Given the description of an element on the screen output the (x, y) to click on. 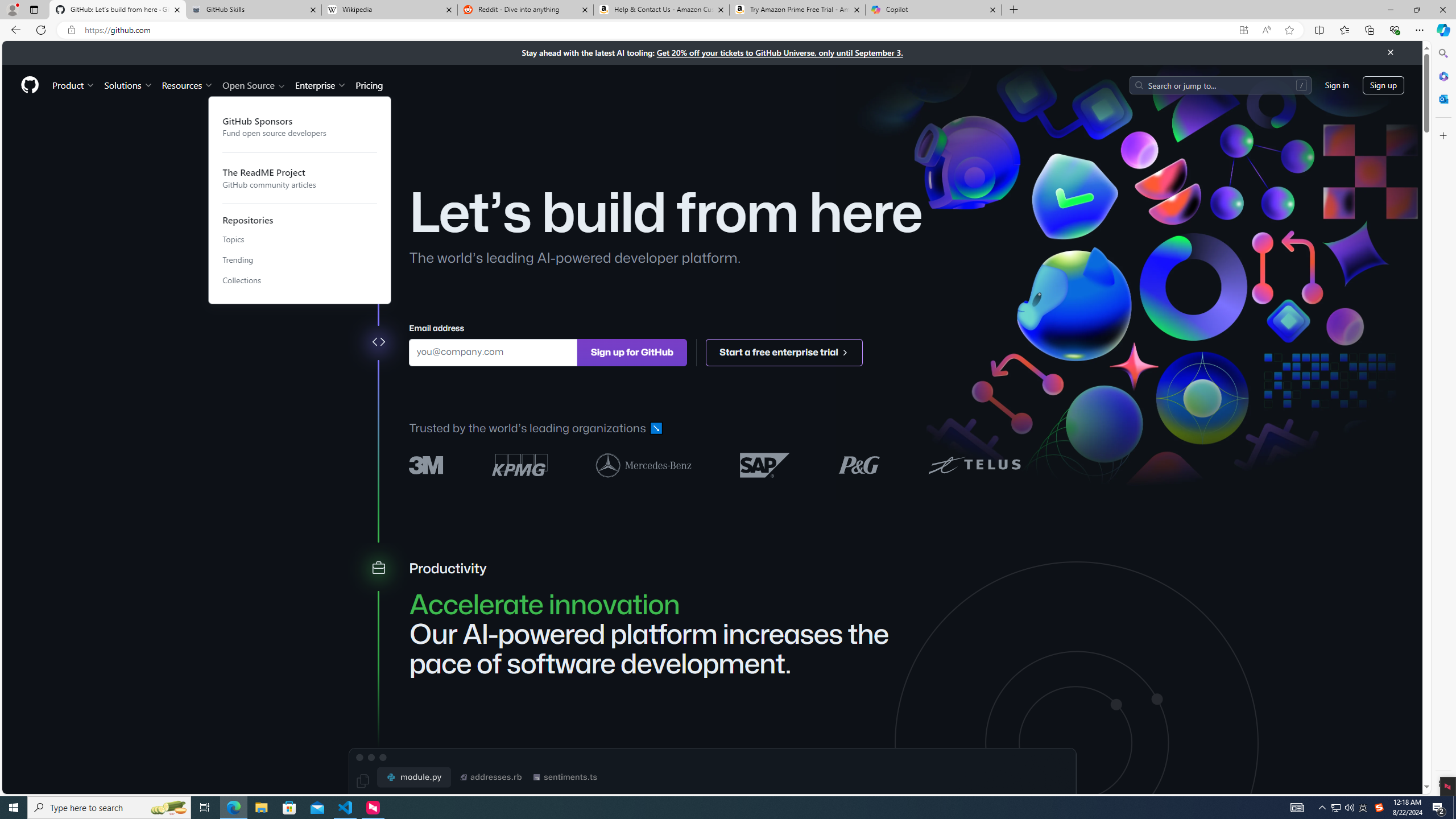
App bar (728, 29)
Product (74, 84)
GitHub Sponsors Fund open source developers (299, 126)
Enterprise (319, 84)
App available. Install GitHub (1243, 29)
KPMG logo (519, 464)
The ReadME ProjectGitHub community articles (299, 177)
Pricing (368, 84)
